Given the description of an element on the screen output the (x, y) to click on. 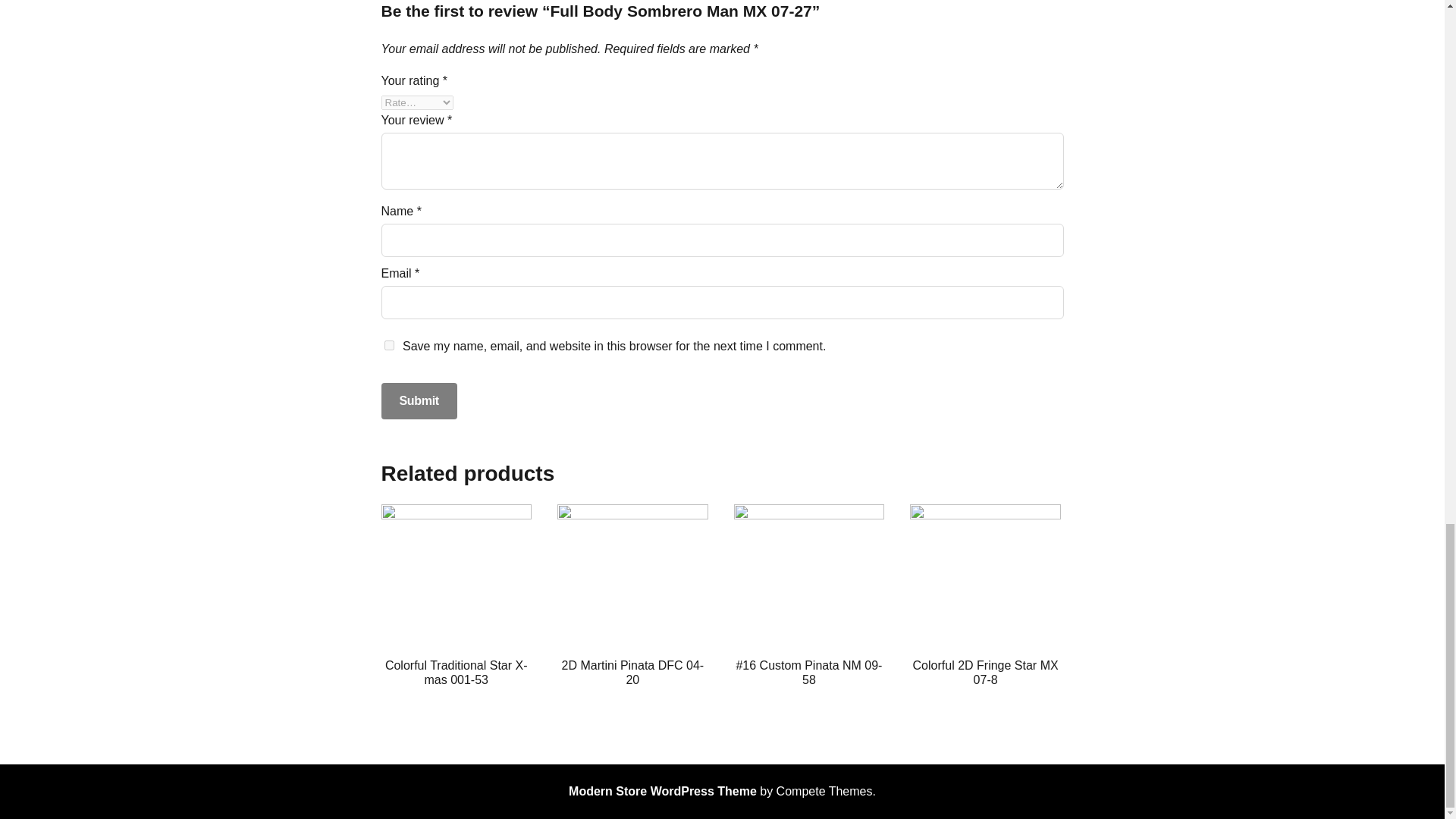
Submit (418, 401)
yes (388, 345)
Modern Store WordPress Theme (663, 790)
Submit (418, 401)
